Given the description of an element on the screen output the (x, y) to click on. 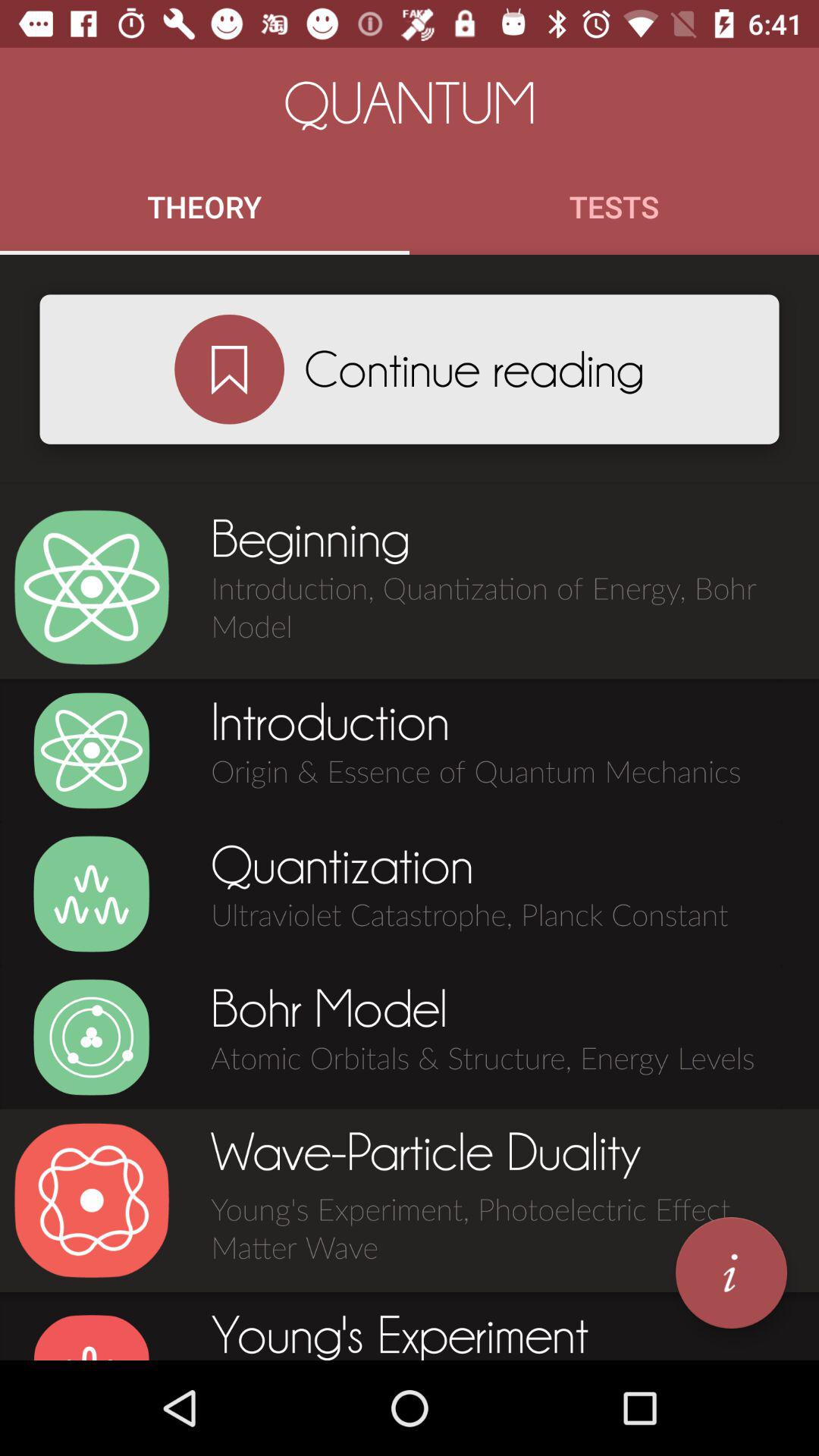
select the symbol which is to the immediate left of the beginning (91, 587)
click on the info icon (731, 1273)
select the icon which is before introduction (91, 750)
